Given the description of an element on the screen output the (x, y) to click on. 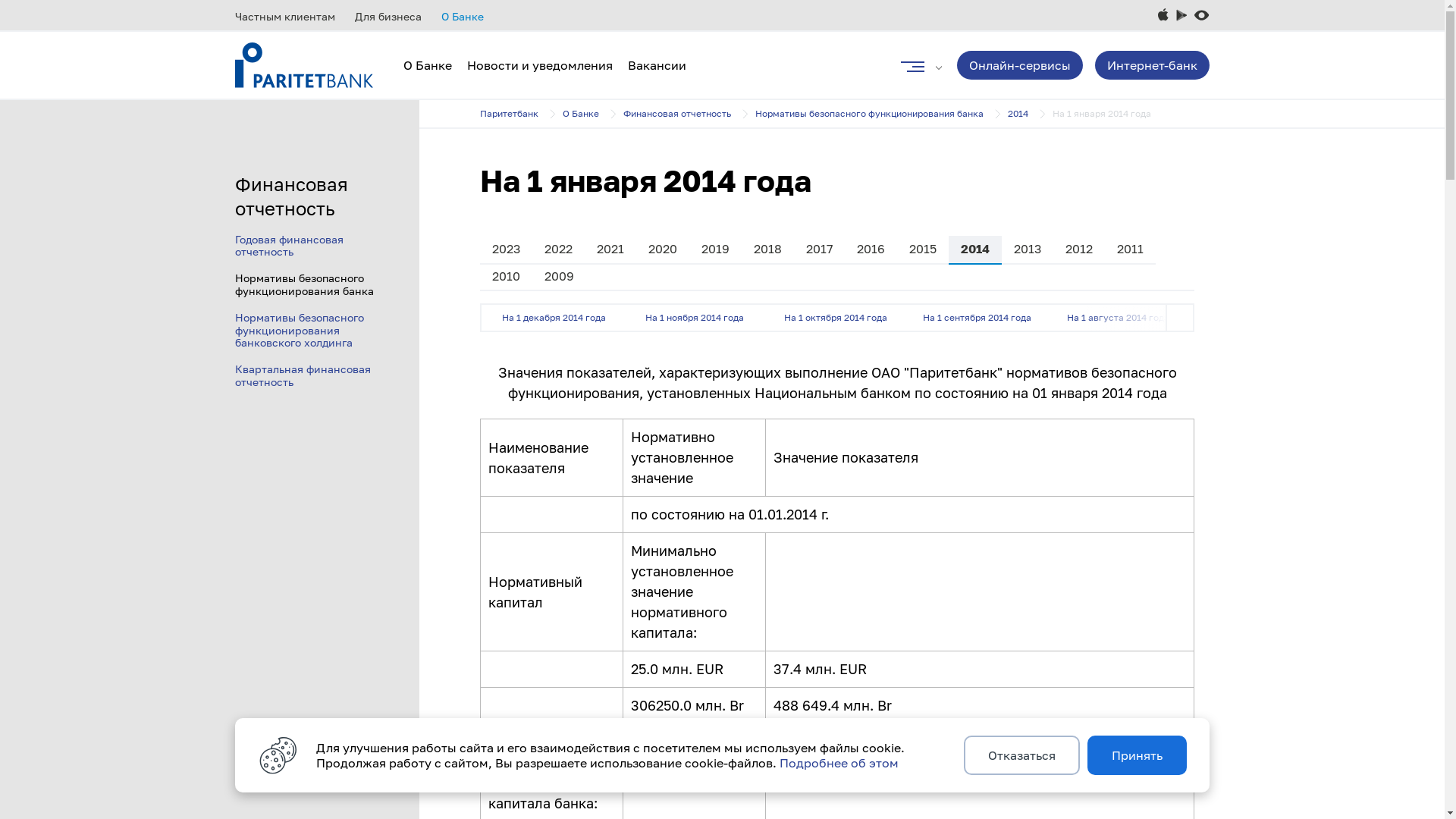
2011 Element type: text (1129, 249)
2015 Element type: text (922, 249)
Next Element type: text (1179, 317)
2021 Element type: text (610, 249)
2012 Element type: text (1078, 249)
2017 Element type: text (818, 249)
2013 Element type: text (1027, 249)
2016 Element type: text (870, 249)
2022 Element type: text (558, 249)
2014 Element type: text (974, 249)
2010 Element type: text (506, 276)
2019 Element type: text (715, 249)
2023 Element type: text (506, 249)
2020 Element type: text (662, 249)
2009 Element type: text (559, 276)
2018 Element type: text (767, 249)
2014 Element type: text (1029, 113)
